Given the description of an element on the screen output the (x, y) to click on. 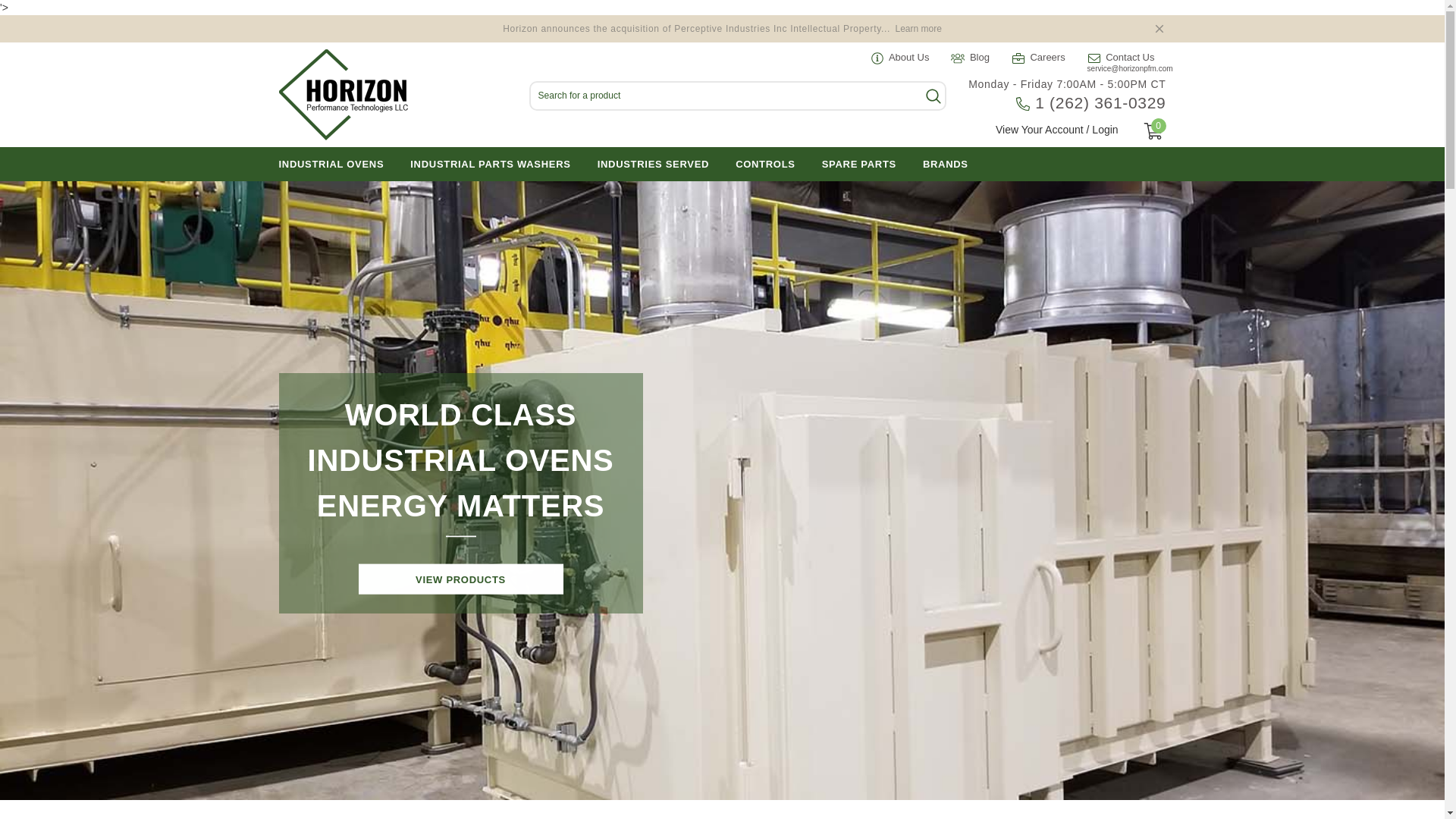
INDUSTRIAL PARTS WASHERS (490, 163)
0 (1153, 130)
Blog (970, 57)
About Us (899, 57)
Careers (1038, 57)
Contact Us (1120, 57)
INDUSTRIAL OVENS (331, 163)
Learn more (917, 28)
Horizon Performance Technologies (343, 94)
